Given the description of an element on the screen output the (x, y) to click on. 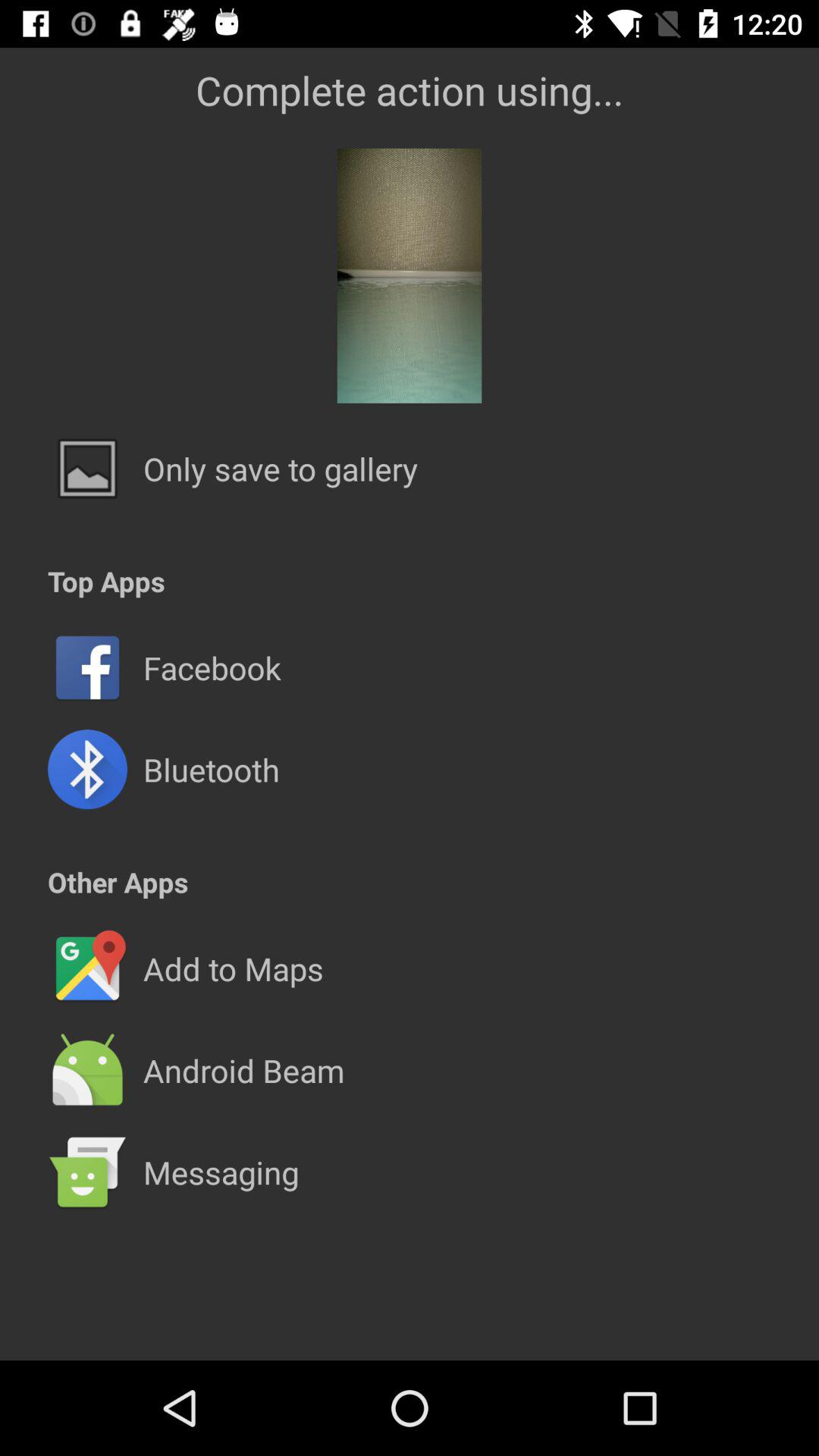
flip until add to maps app (233, 968)
